Given the description of an element on the screen output the (x, y) to click on. 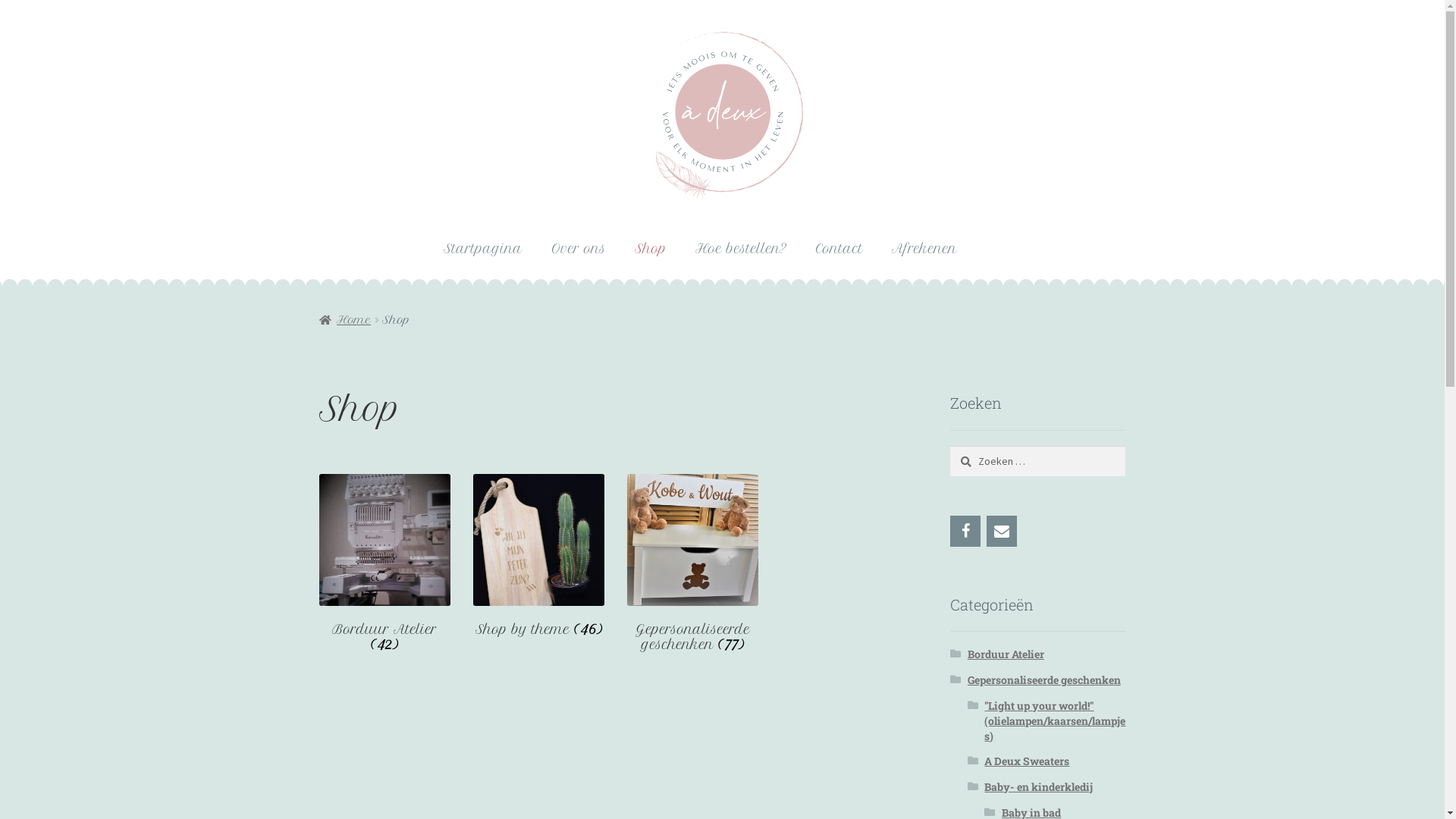
Home Element type: text (345, 319)
A Deux Sweaters Element type: text (1026, 760)
Gepersonaliseerde geschenken (77) Element type: text (692, 562)
Borduur Atelier (42) Element type: text (384, 562)
Shop by theme (46) Element type: text (538, 555)
Startpagina Element type: text (482, 249)
Contact Element type: text (839, 249)
Over ons Element type: text (578, 249)
Afrekenen Element type: text (924, 249)
Baby- en kinderkledij Element type: text (1038, 786)
Zoeken Element type: text (949, 445)
Facebook Element type: hover (965, 530)
Ga door naar navigatie Element type: text (349, 31)
Gepersonaliseerde geschenken Element type: text (1043, 679)
Contact Element type: hover (1001, 530)
Shop Element type: text (650, 249)
"Light up your world!" (olielampen/kaarsen/lampjes) Element type: text (1054, 720)
Borduur Atelier Element type: text (1005, 653)
Hoe bestellen? Element type: text (741, 249)
